Given the description of an element on the screen output the (x, y) to click on. 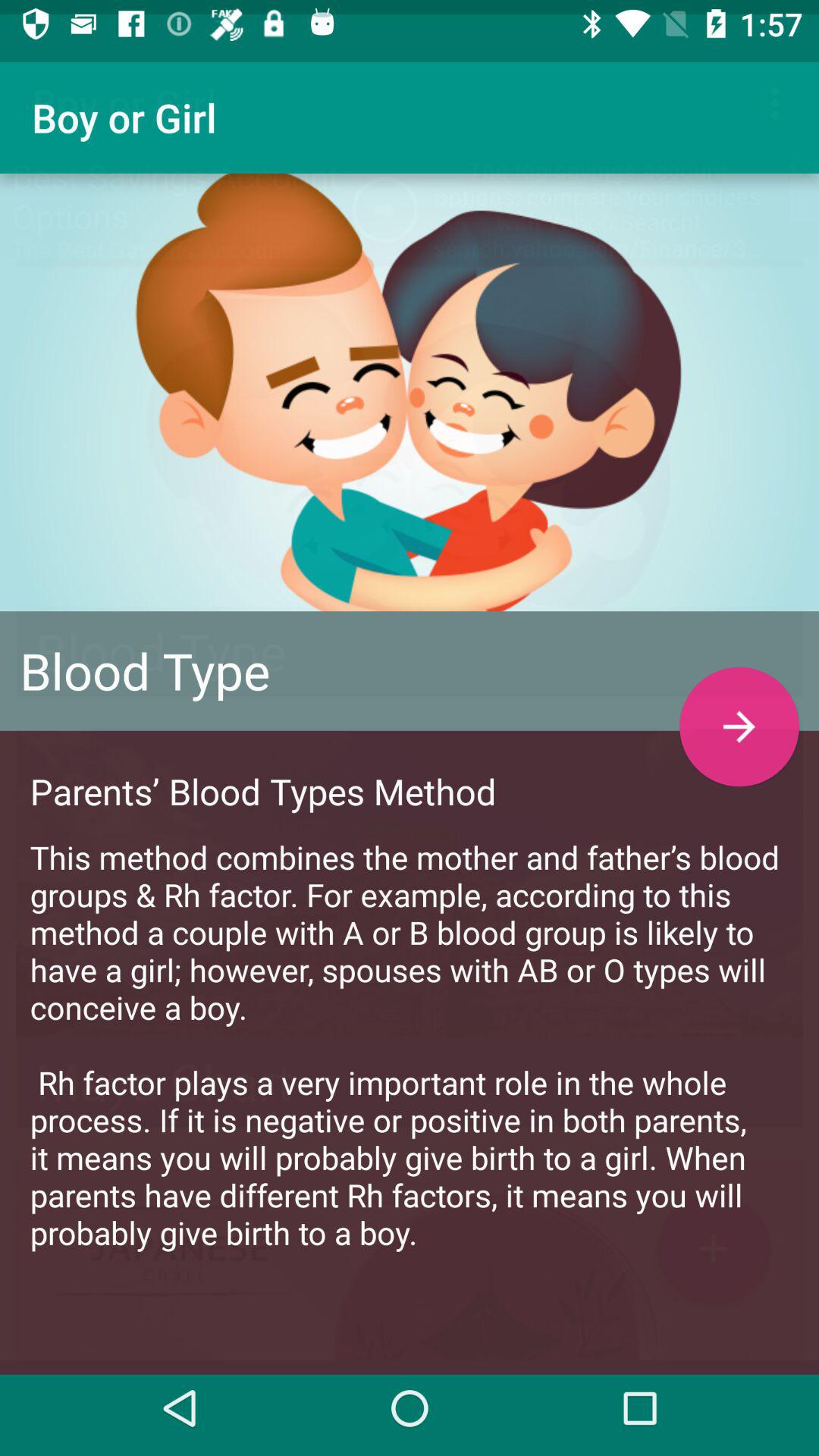
turn off the icon on the right (739, 712)
